Given the description of an element on the screen output the (x, y) to click on. 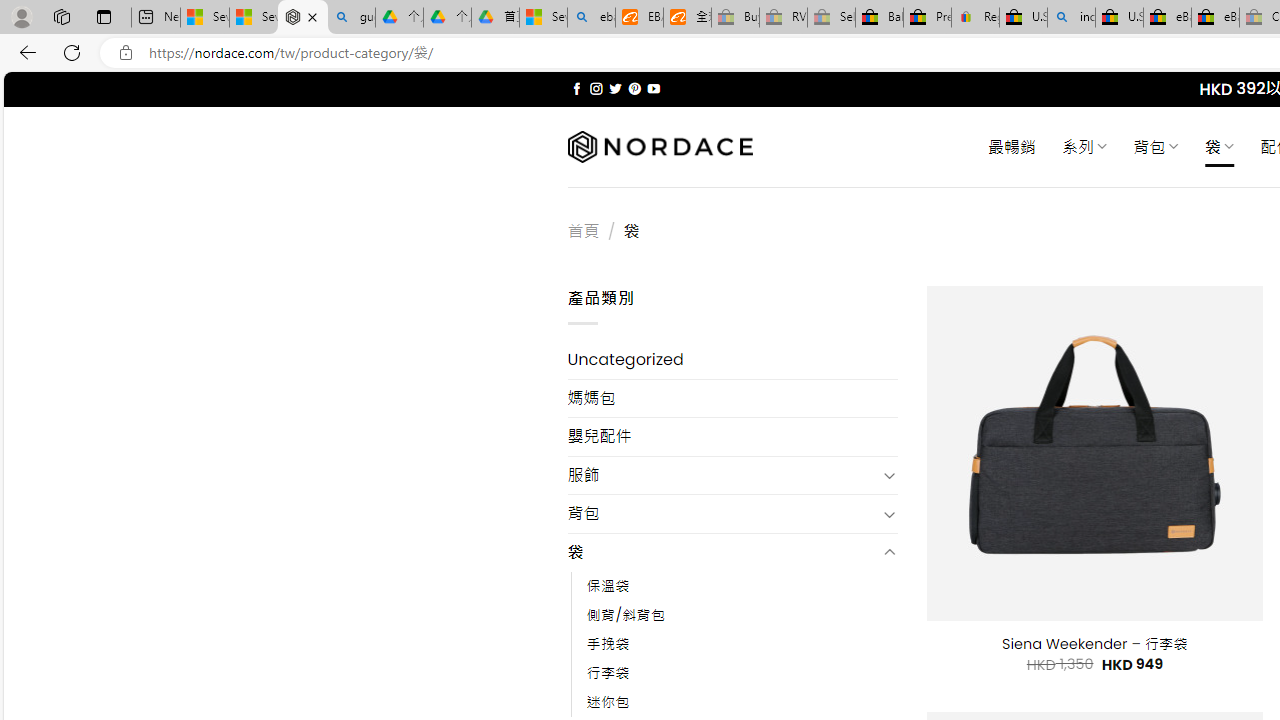
U.S. State Privacy Disclosures - eBay Inc. (1119, 17)
Sell worldwide with eBay - Sleeping (831, 17)
